Given the description of an element on the screen output the (x, y) to click on. 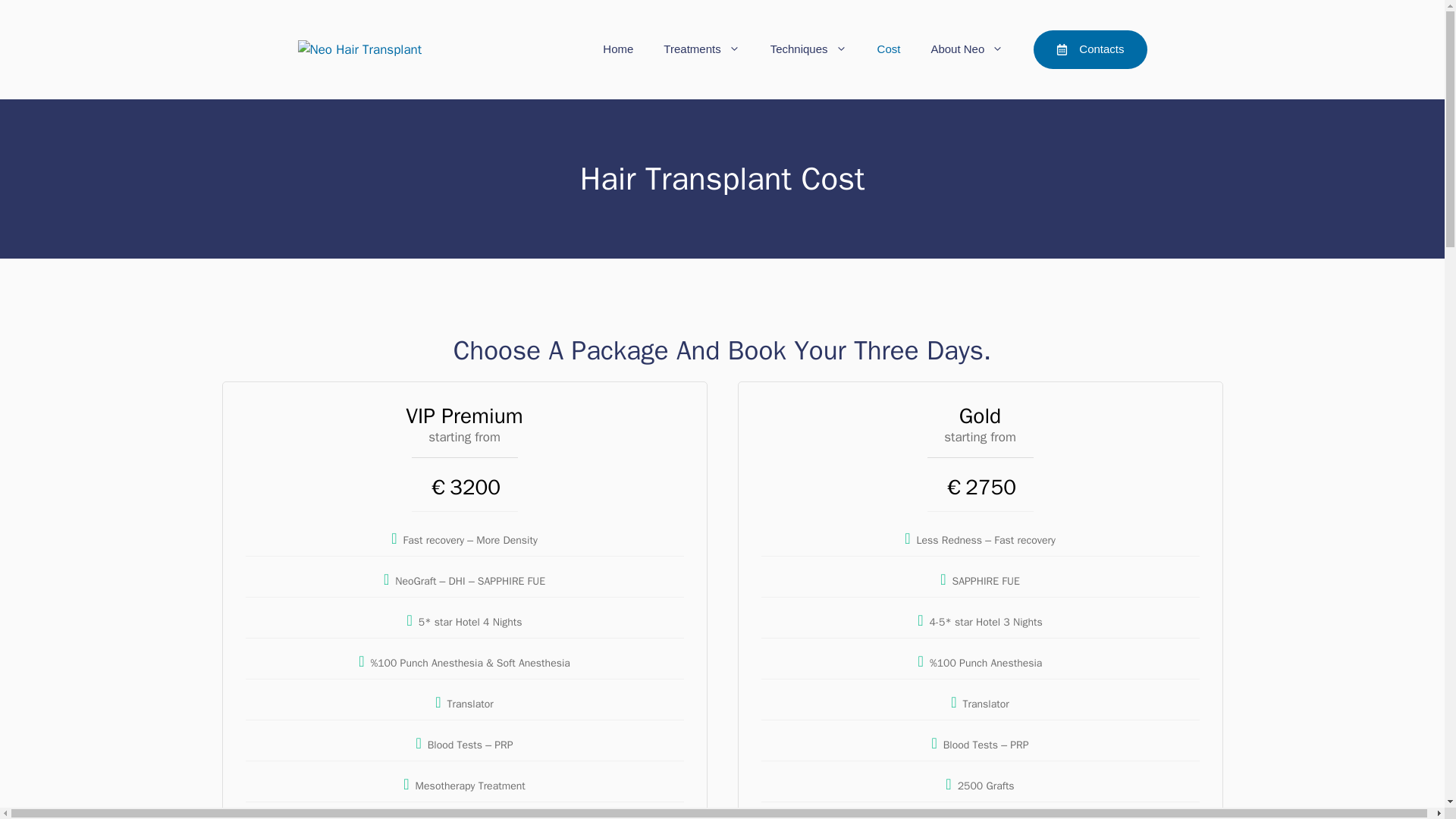
Contacts (1090, 49)
About Neo (966, 49)
Treatments (700, 49)
Cost (888, 49)
Techniques (808, 49)
Home (617, 49)
